Given the description of an element on the screen output the (x, y) to click on. 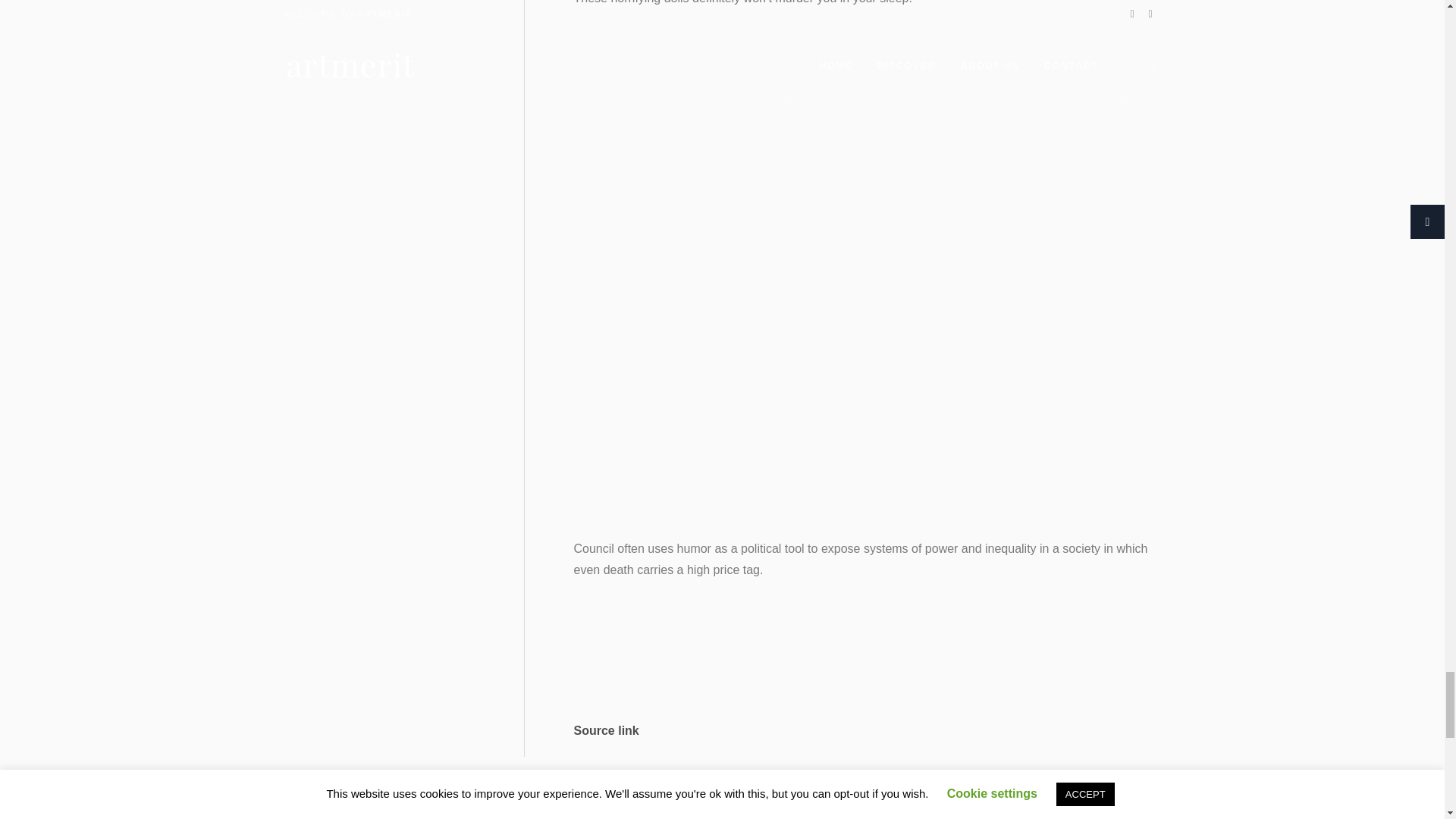
Source link (606, 730)
